Given the description of an element on the screen output the (x, y) to click on. 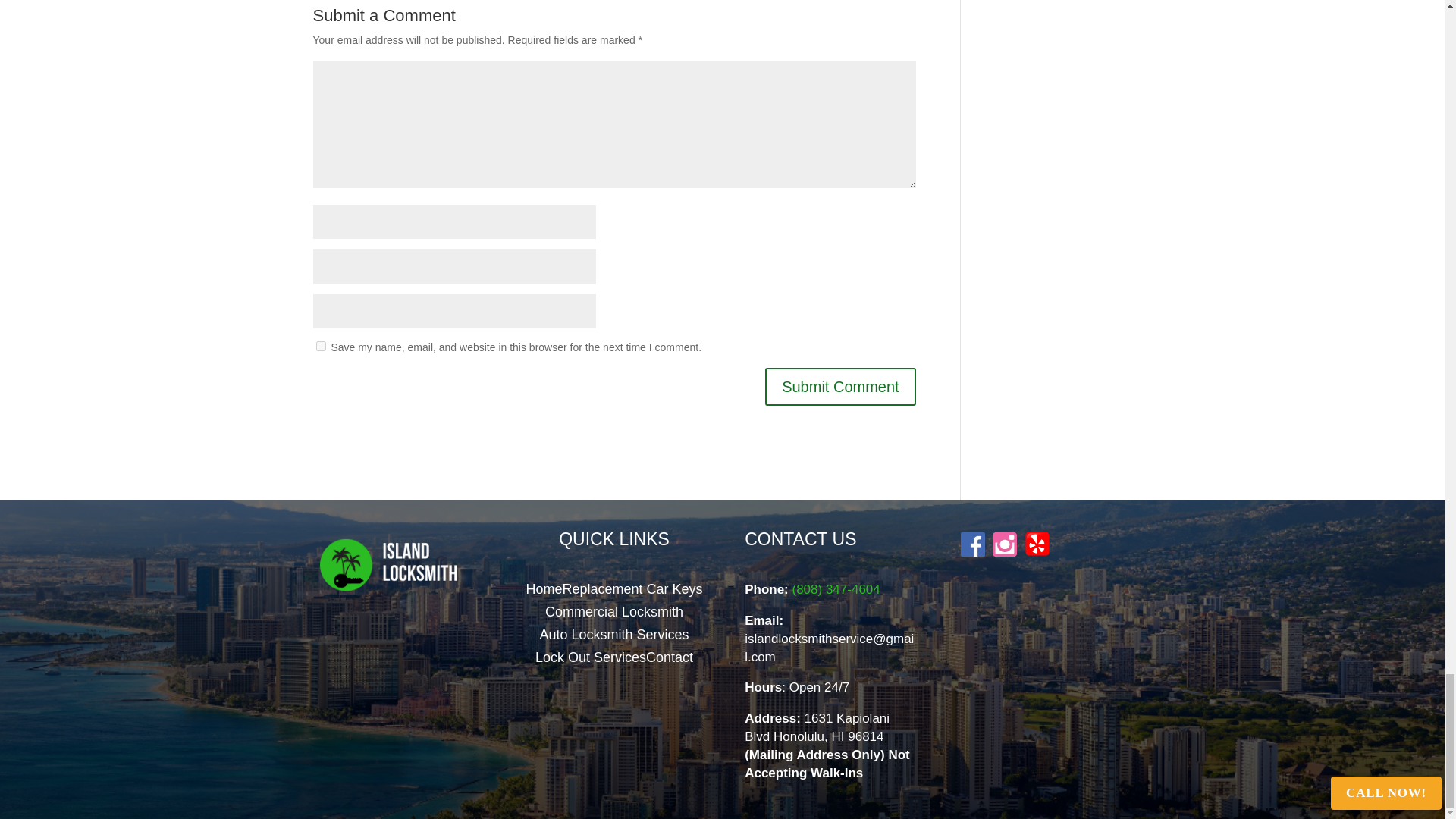
yes (319, 346)
island-locksmith-white (398, 564)
Submit Comment (840, 386)
